Given the description of an element on the screen output the (x, y) to click on. 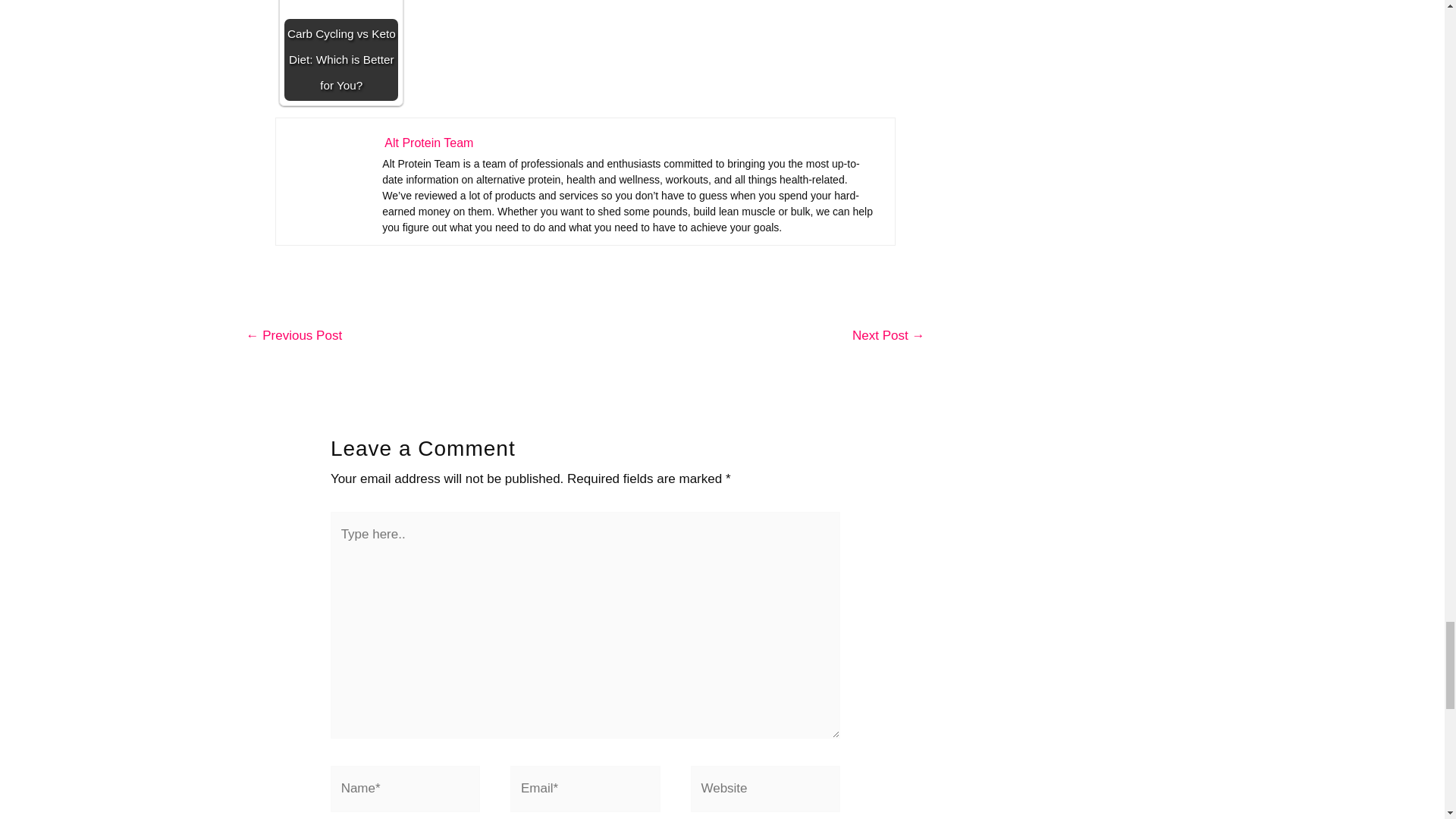
The Best Greens Supplements That Make You Feel Great (887, 337)
Carb Cycling vs Keto Diet: Which is Better for You? (340, 50)
